Given the description of an element on the screen output the (x, y) to click on. 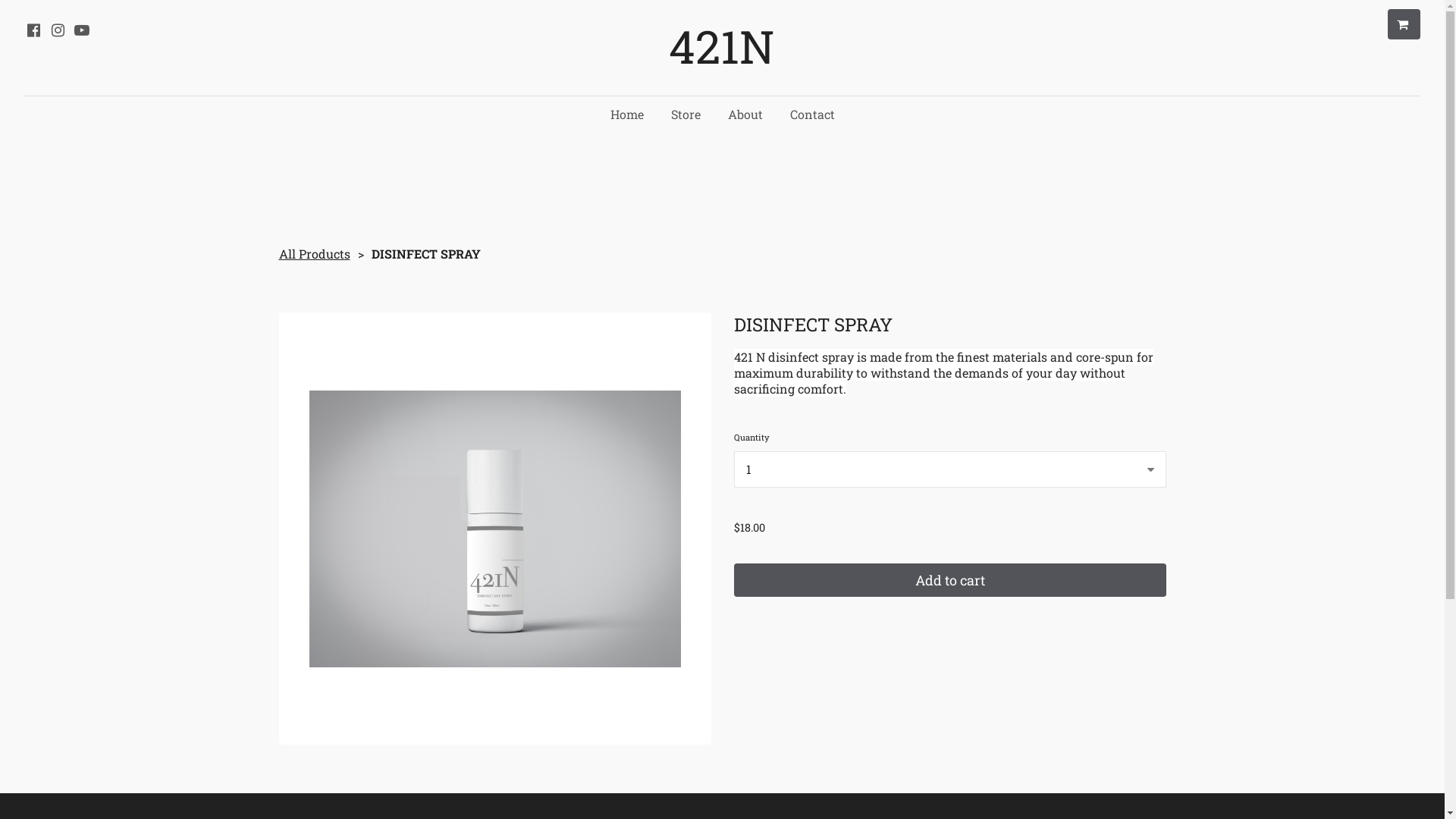
All Products Element type: text (314, 253)
Home Element type: text (626, 114)
Store Element type: text (685, 114)
Add to cart Element type: text (950, 579)
About Element type: text (745, 114)
421N Element type: text (722, 46)
Contact Element type: text (812, 114)
